Given the description of an element on the screen output the (x, y) to click on. 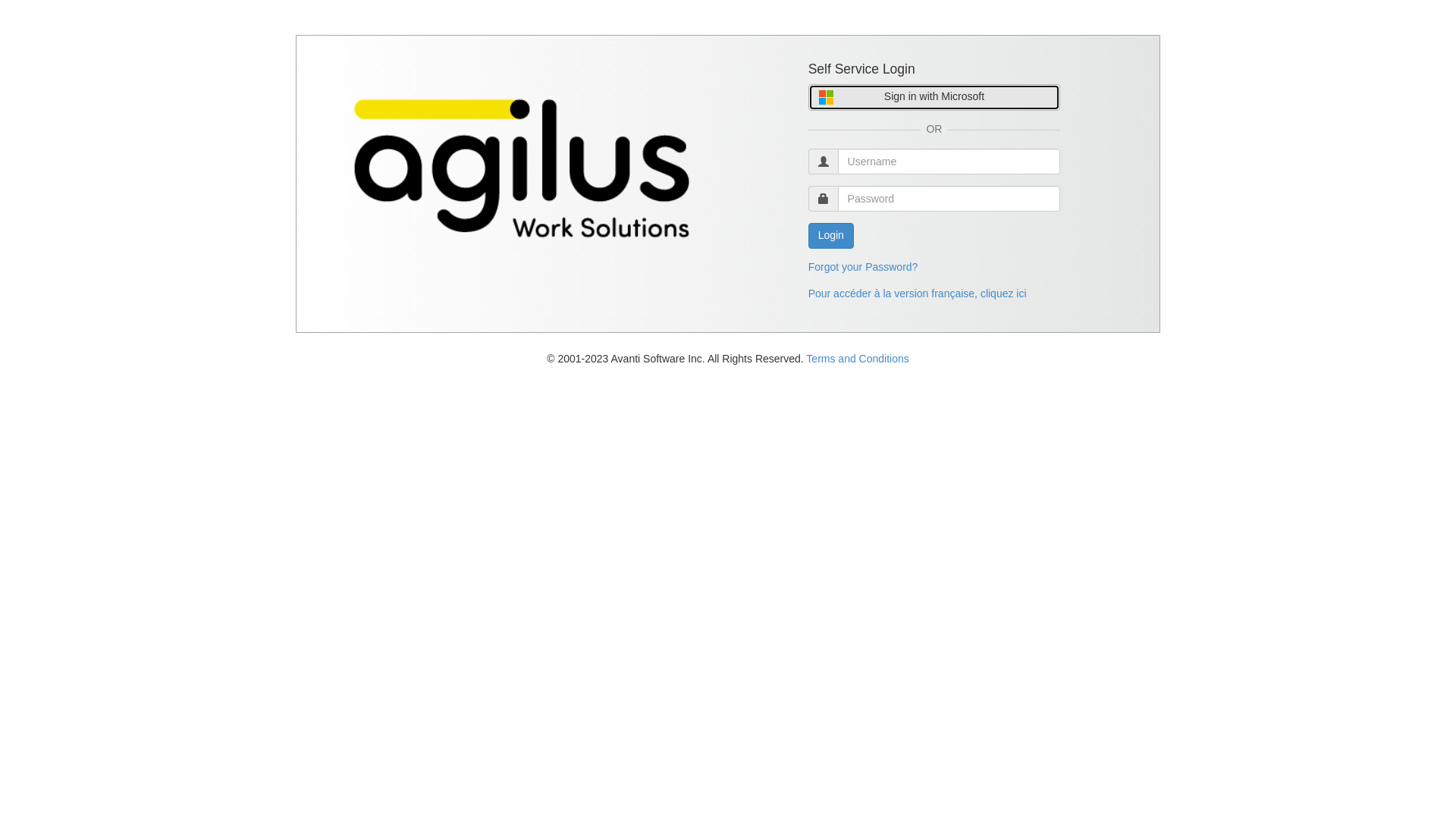
Login Element type: text (830, 235)
Sign in with Microsoft Element type: text (934, 97)
Terms and Conditions Element type: text (857, 358)
Forgot your Password? Element type: text (863, 266)
